Given the description of an element on the screen output the (x, y) to click on. 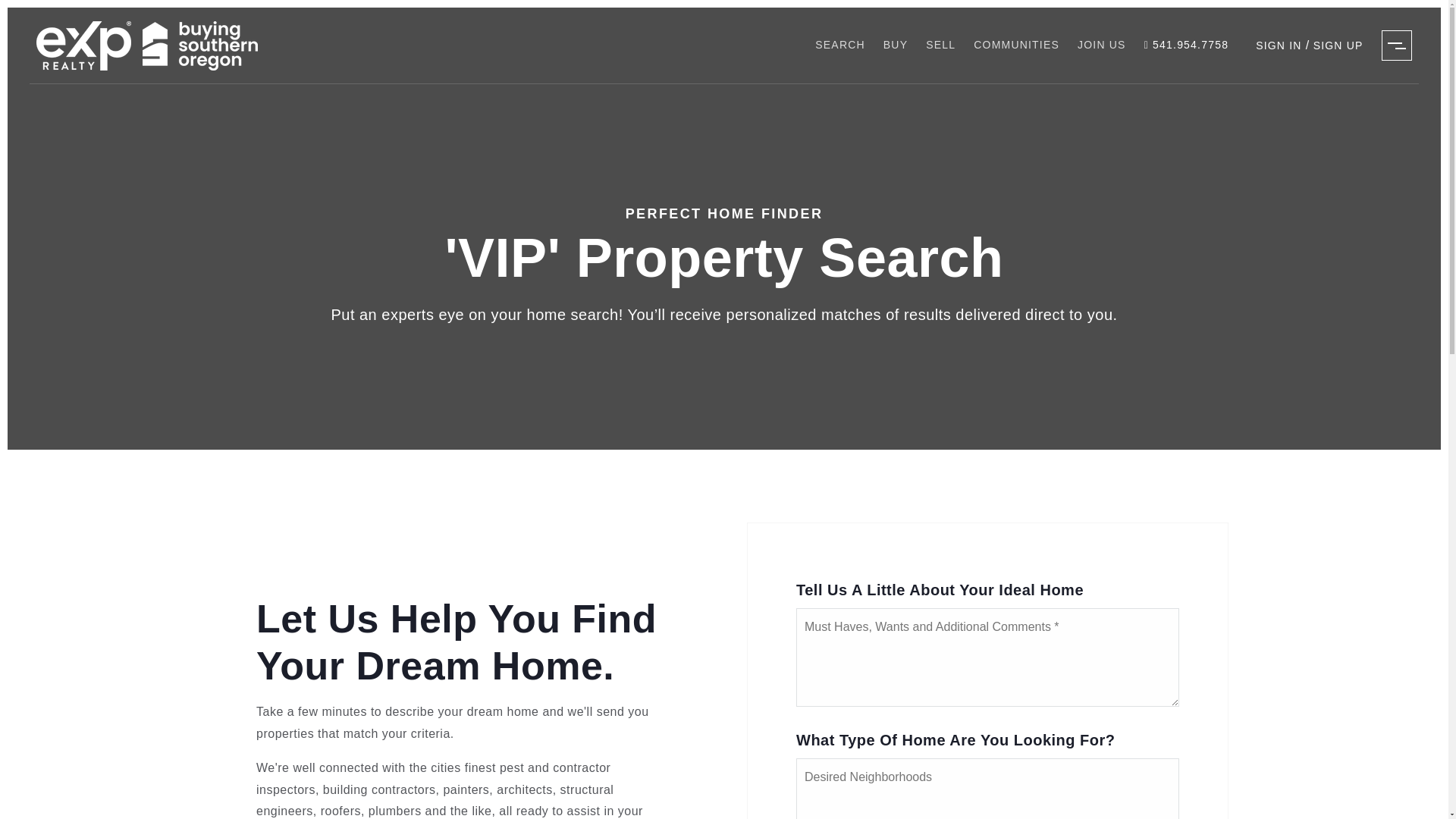
SIGN UP (1337, 45)
SEARCH (840, 44)
541.954.7758 (1186, 45)
SELL (940, 44)
BUY (896, 44)
SIGN IN (1280, 45)
JOIN US (1101, 44)
COMMUNITIES (1015, 44)
